Given the description of an element on the screen output the (x, y) to click on. 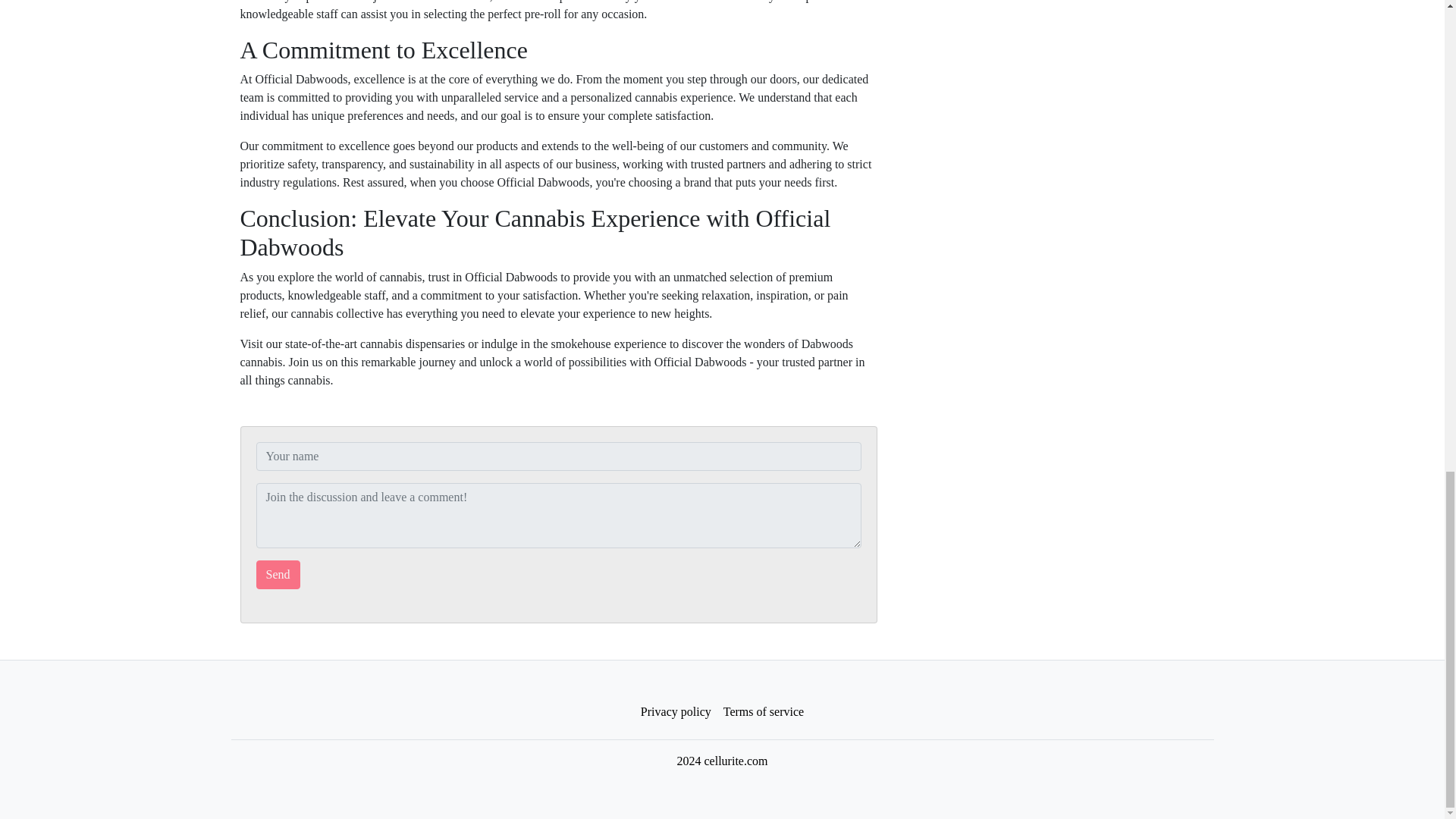
Terms of service (763, 711)
Send (277, 574)
Privacy policy (675, 711)
Send (277, 574)
